Given the description of an element on the screen output the (x, y) to click on. 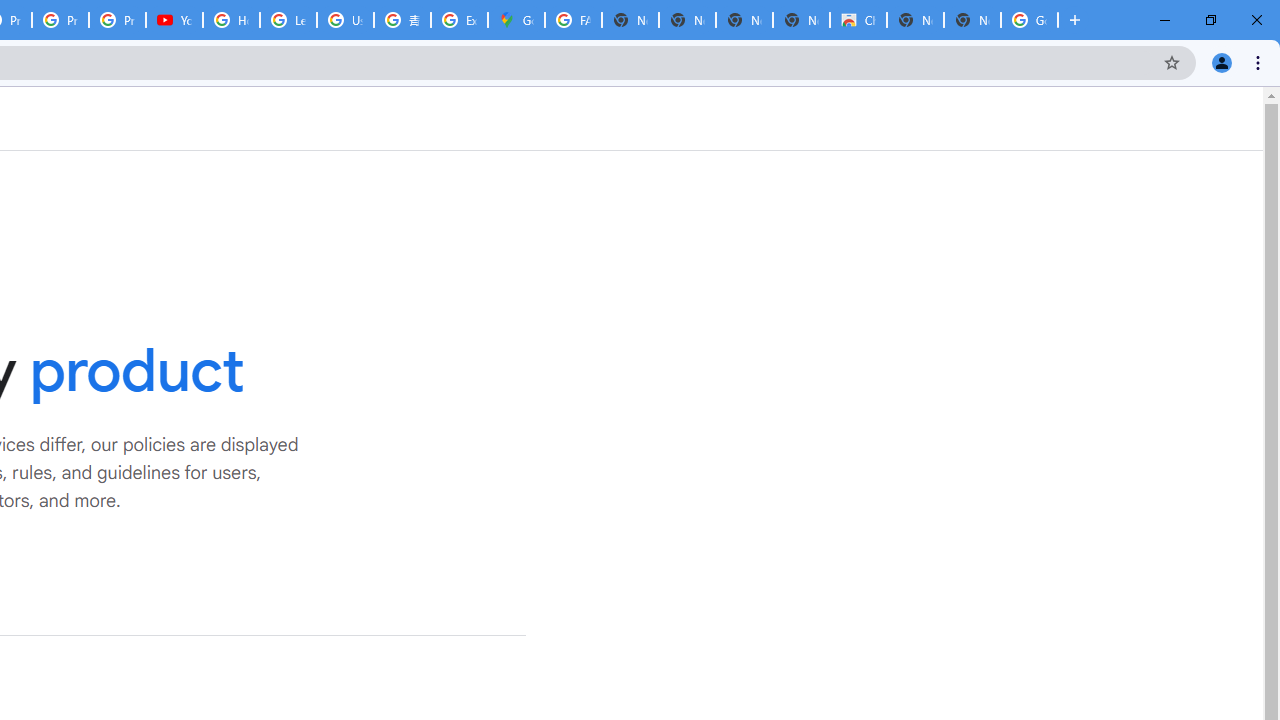
How Chrome protects your passwords - Google Chrome Help (231, 20)
